Given the description of an element on the screen output the (x, y) to click on. 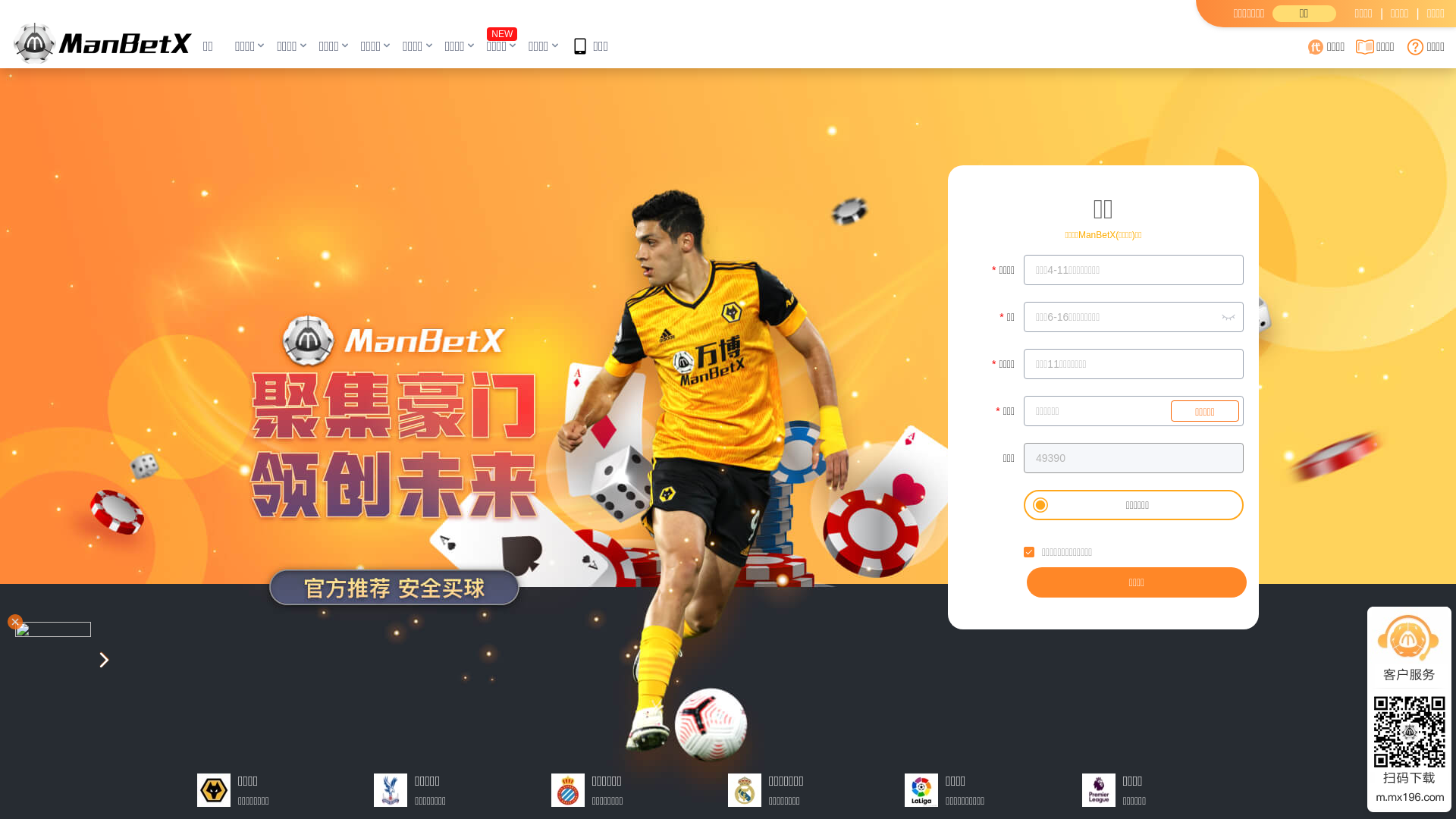
ManBetX Element type: text (102, 42)
